Given the description of an element on the screen output the (x, y) to click on. 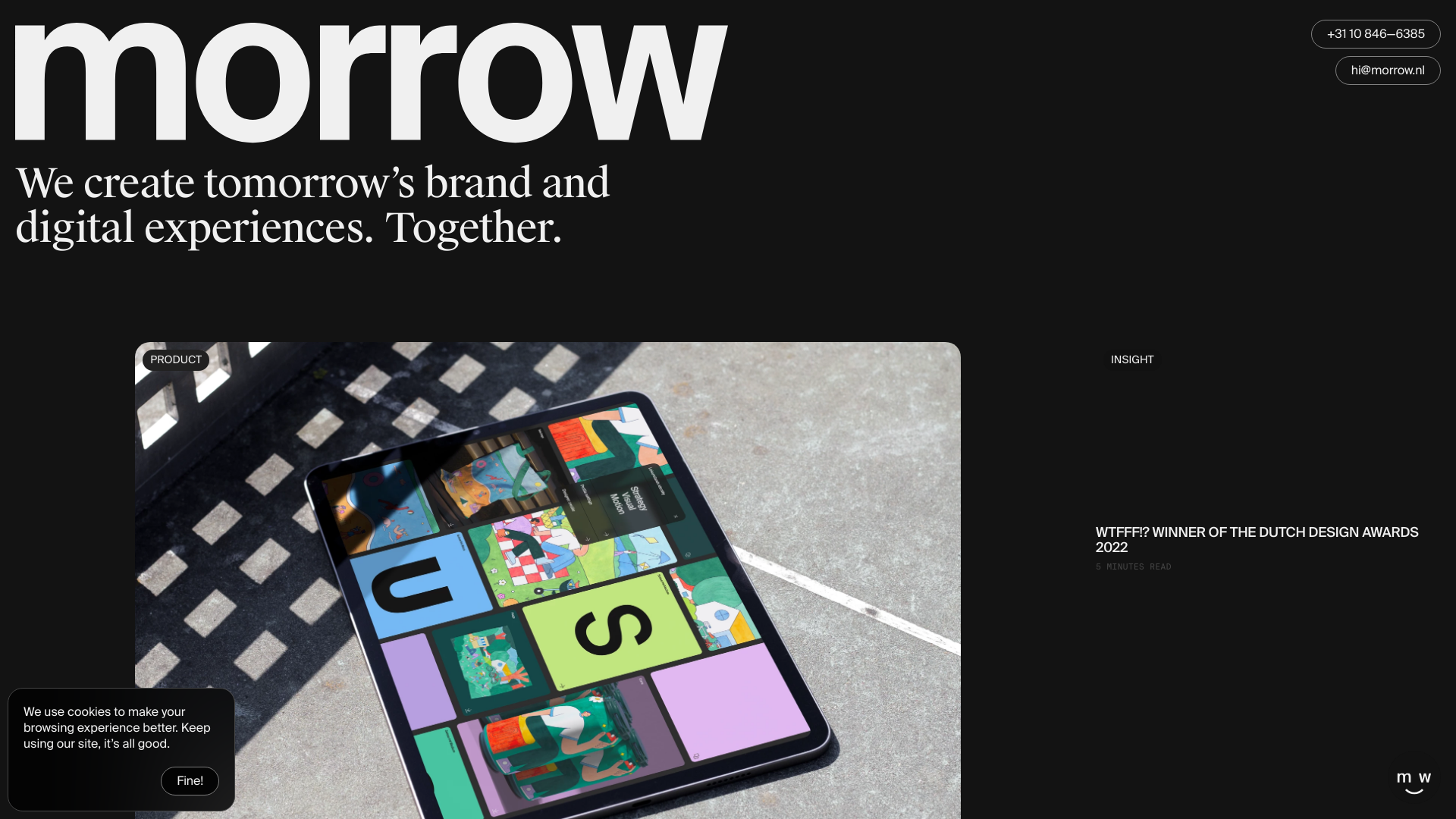
hi@morrow.nl Element type: text (1387, 70)
